Given the description of an element on the screen output the (x, y) to click on. 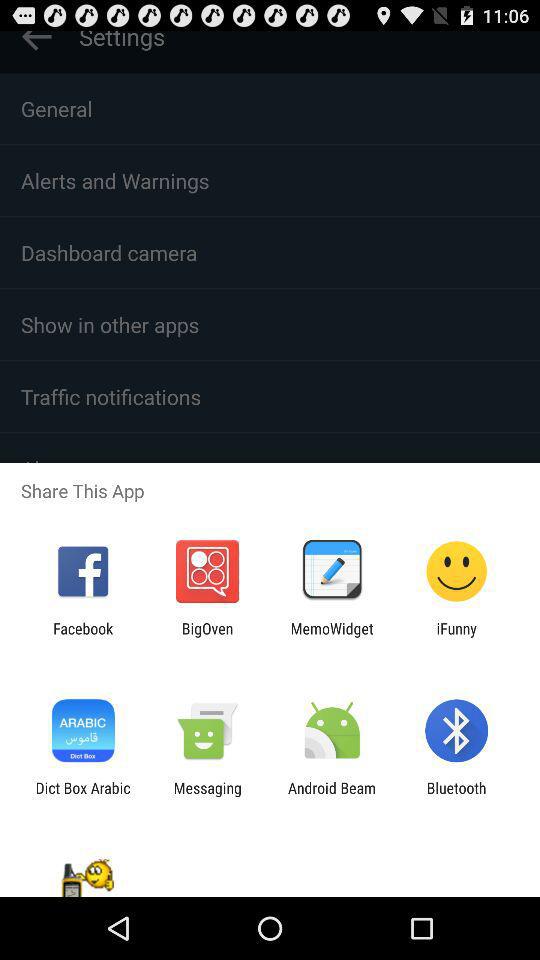
swipe until the dict box arabic item (82, 796)
